Given the description of an element on the screen output the (x, y) to click on. 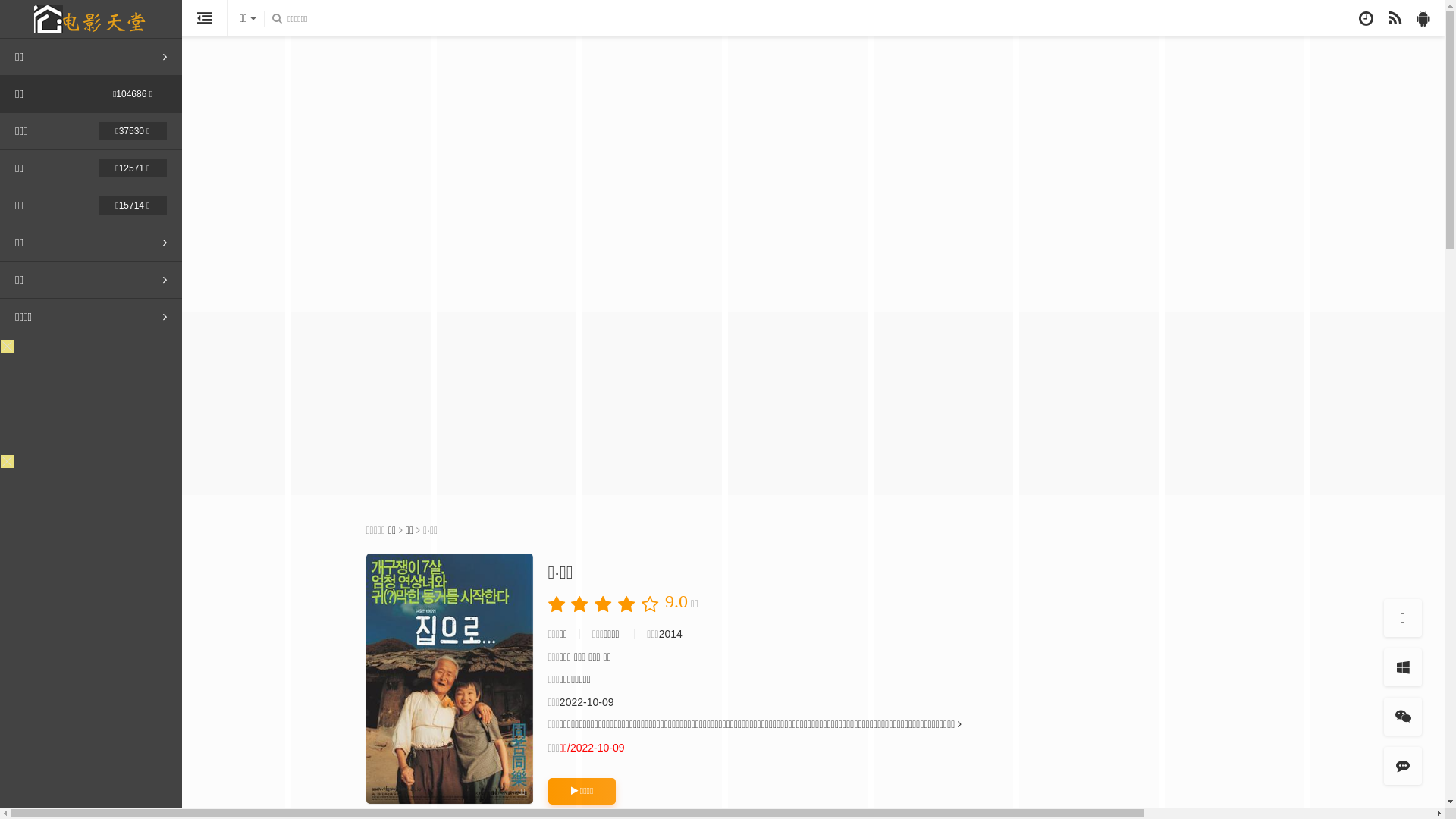
2014 Element type: text (670, 633)
